Given the description of an element on the screen output the (x, y) to click on. 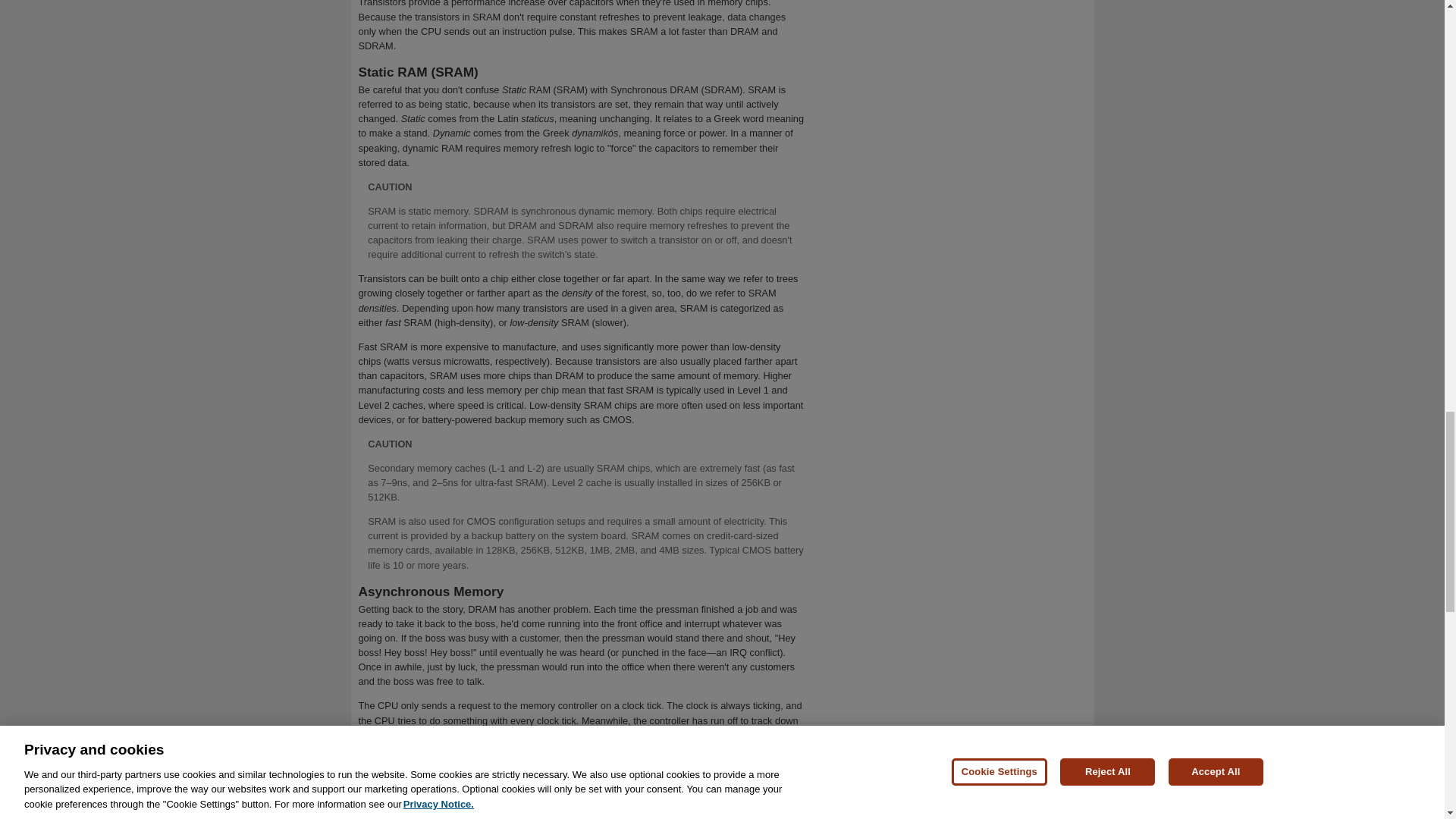
Figure 3.1 (390, 778)
